Given the description of an element on the screen output the (x, y) to click on. 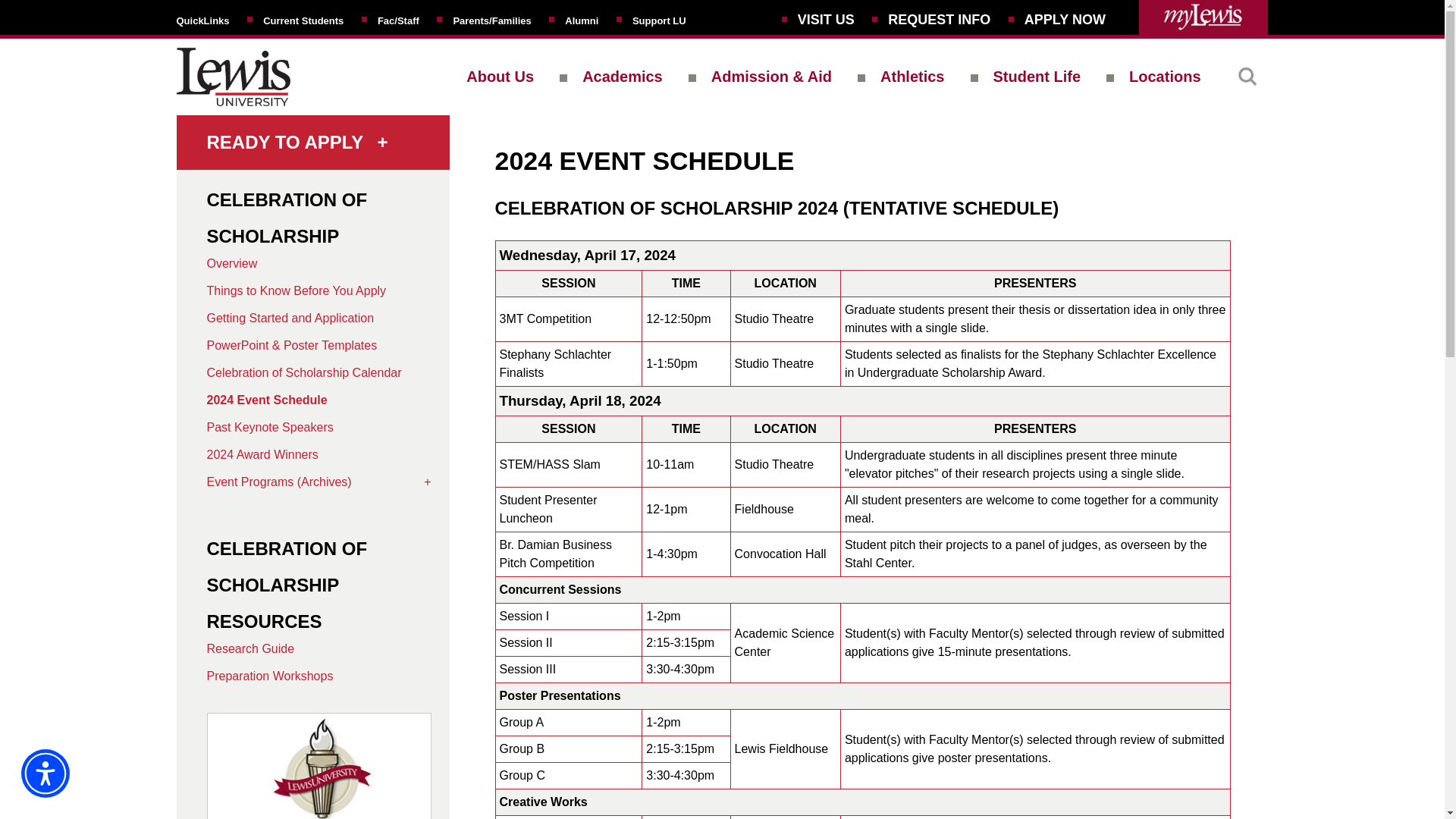
VISIT US (825, 19)
About Us (499, 76)
REQUEST INFO (939, 19)
Alumni (581, 19)
QuickLinks (202, 19)
Support LU (658, 19)
Current Students (303, 19)
APPLY NOW (1065, 19)
Accessibility Menu (45, 773)
